Given the description of an element on the screen output the (x, y) to click on. 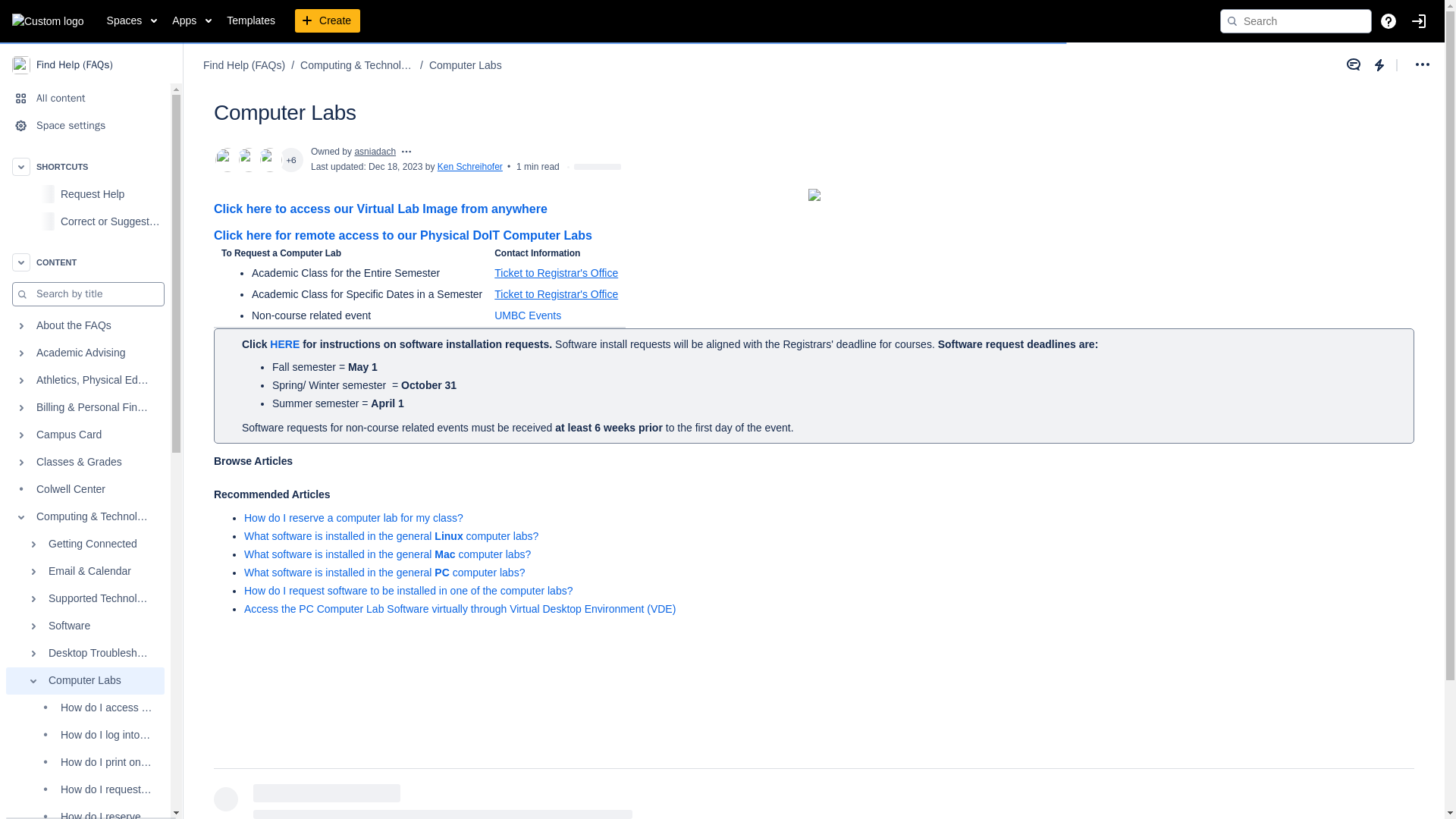
Request Help (111, 193)
Academic Advising (84, 352)
Create (327, 21)
Space settings (84, 125)
Getting Connected (84, 543)
Desktop Troubleshooting (84, 653)
About the FAQs (84, 325)
CONTENT (84, 262)
Request Help (84, 194)
All content (84, 98)
